Given the description of an element on the screen output the (x, y) to click on. 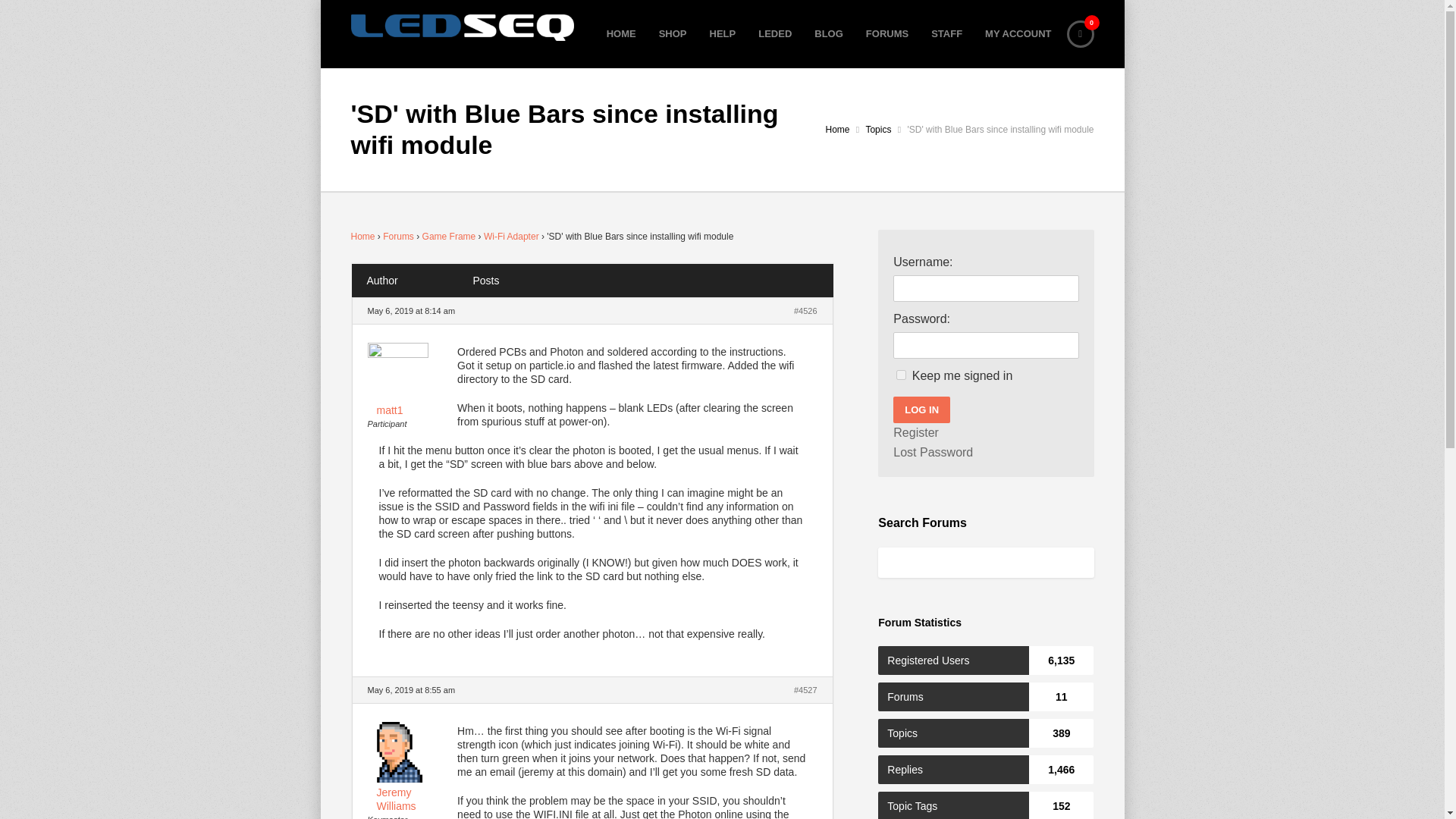
Start shopping (1079, 33)
Home (362, 235)
Register (916, 433)
LOG IN (921, 409)
Jeremy Williams (411, 793)
Search (32, 15)
View matt1's profile (411, 382)
Forums (397, 235)
Lost Password (932, 452)
forever (900, 375)
